Given the description of an element on the screen output the (x, y) to click on. 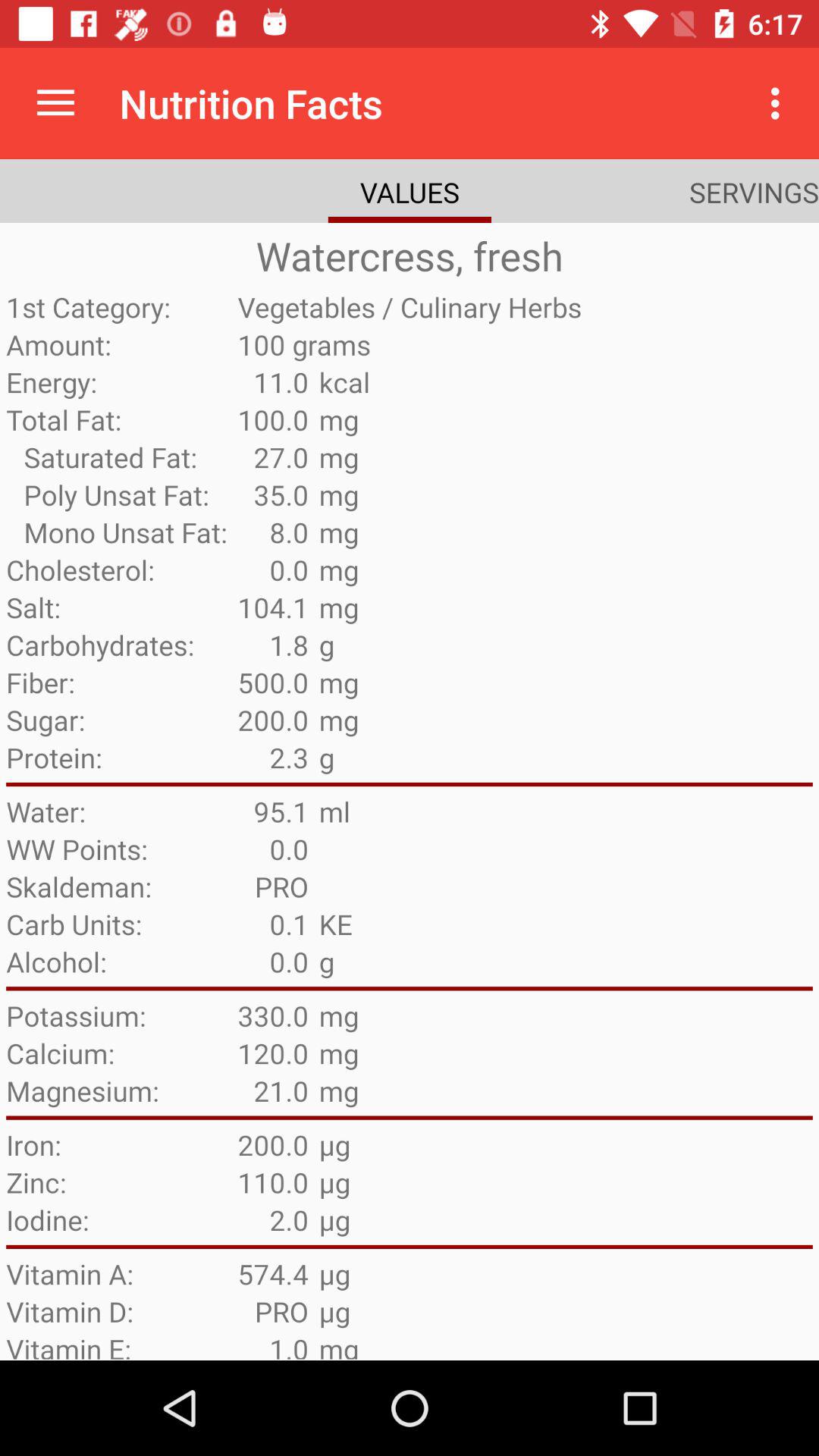
click the icon above the watercress, fresh (55, 103)
